Given the description of an element on the screen output the (x, y) to click on. 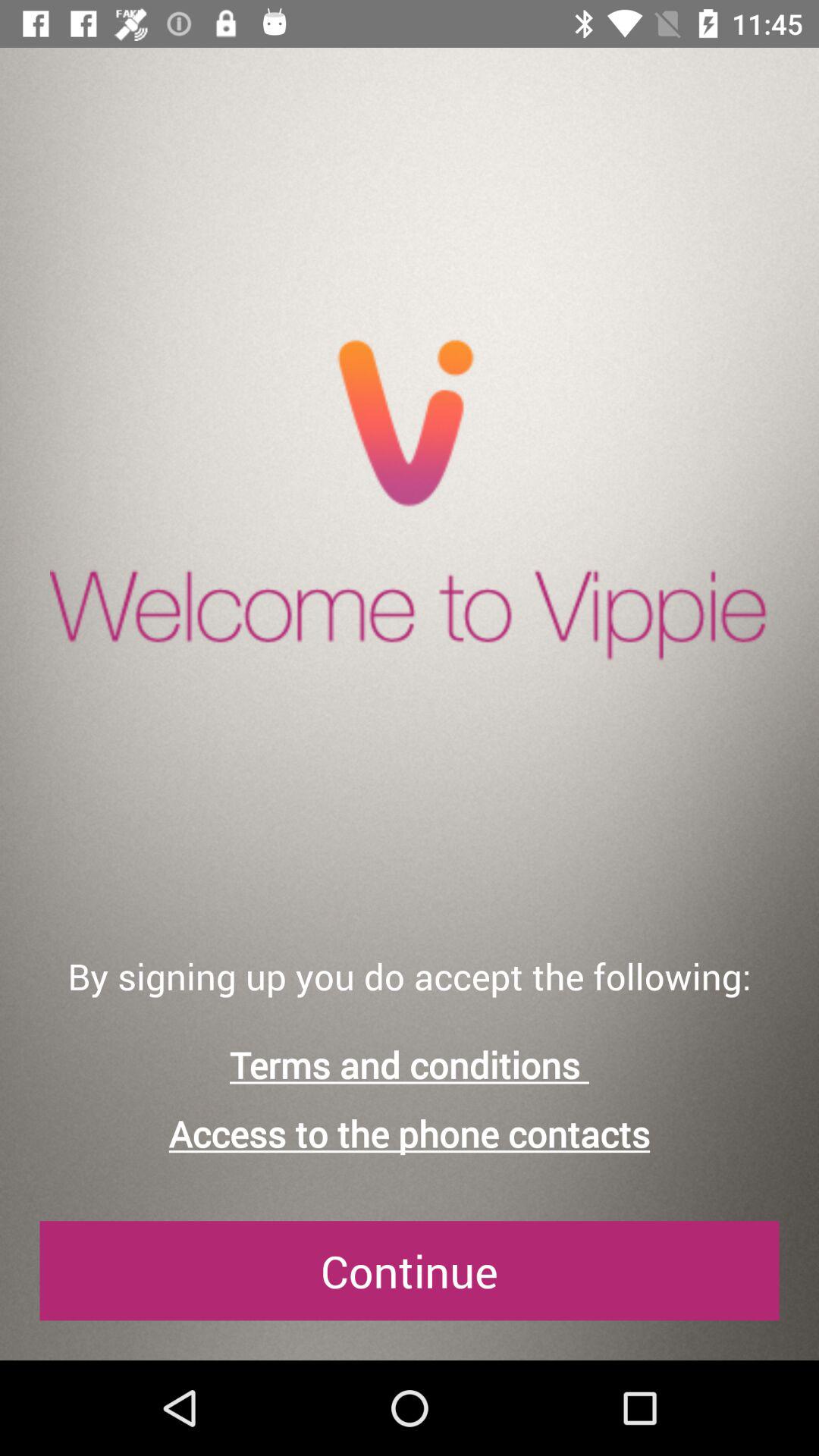
press the continue item (409, 1270)
